Given the description of an element on the screen output the (x, y) to click on. 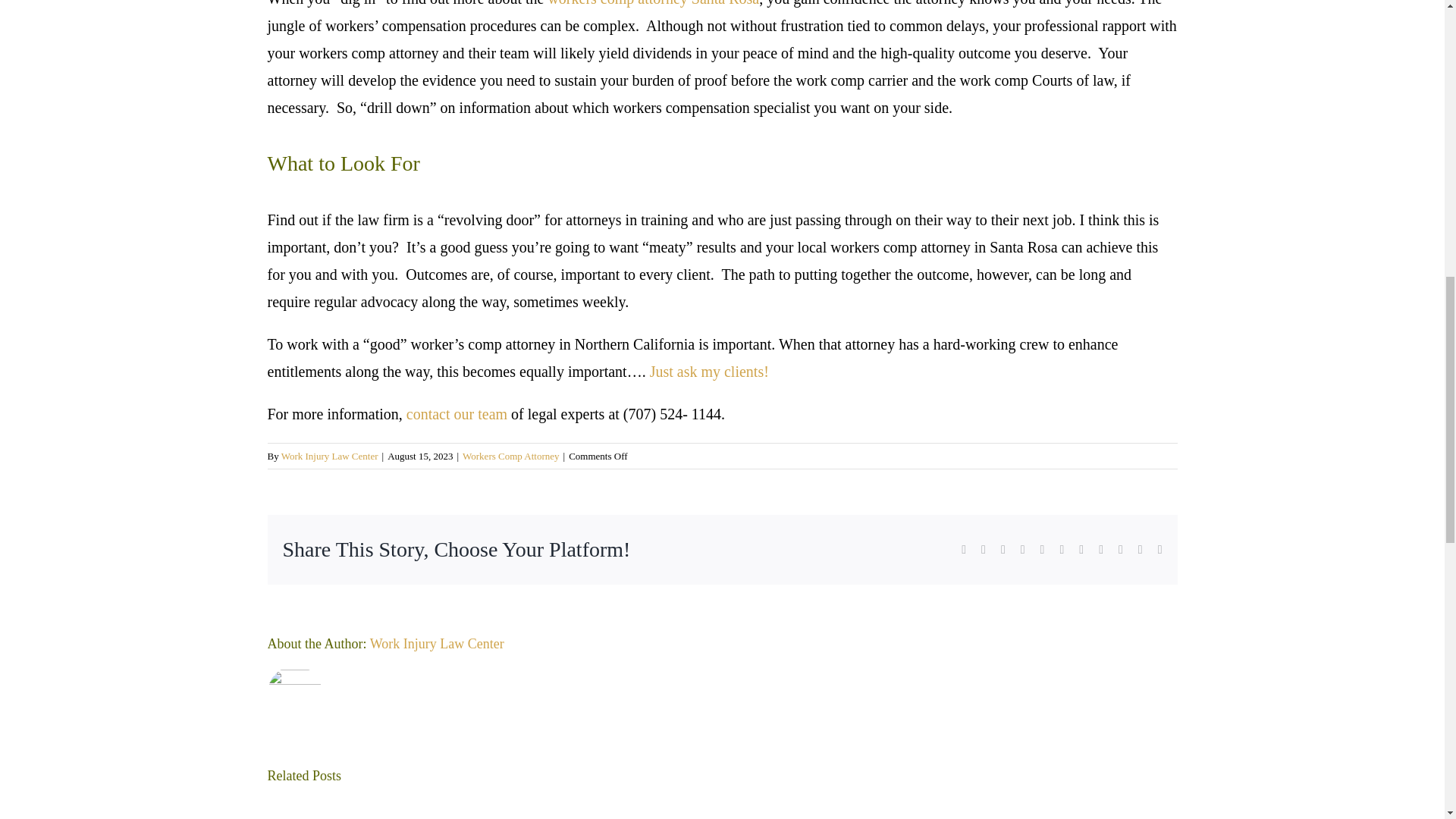
Posts by Work Injury Law Center (329, 455)
Work Injury Law Center (329, 455)
contact our team (456, 413)
Just ask my clients! (708, 371)
Posts by Work Injury Law Center (436, 643)
Workers Comp Attorney (511, 455)
workers comp attorney Santa Rosa (652, 3)
Work Injury Law Center (436, 643)
